Given the description of an element on the screen output the (x, y) to click on. 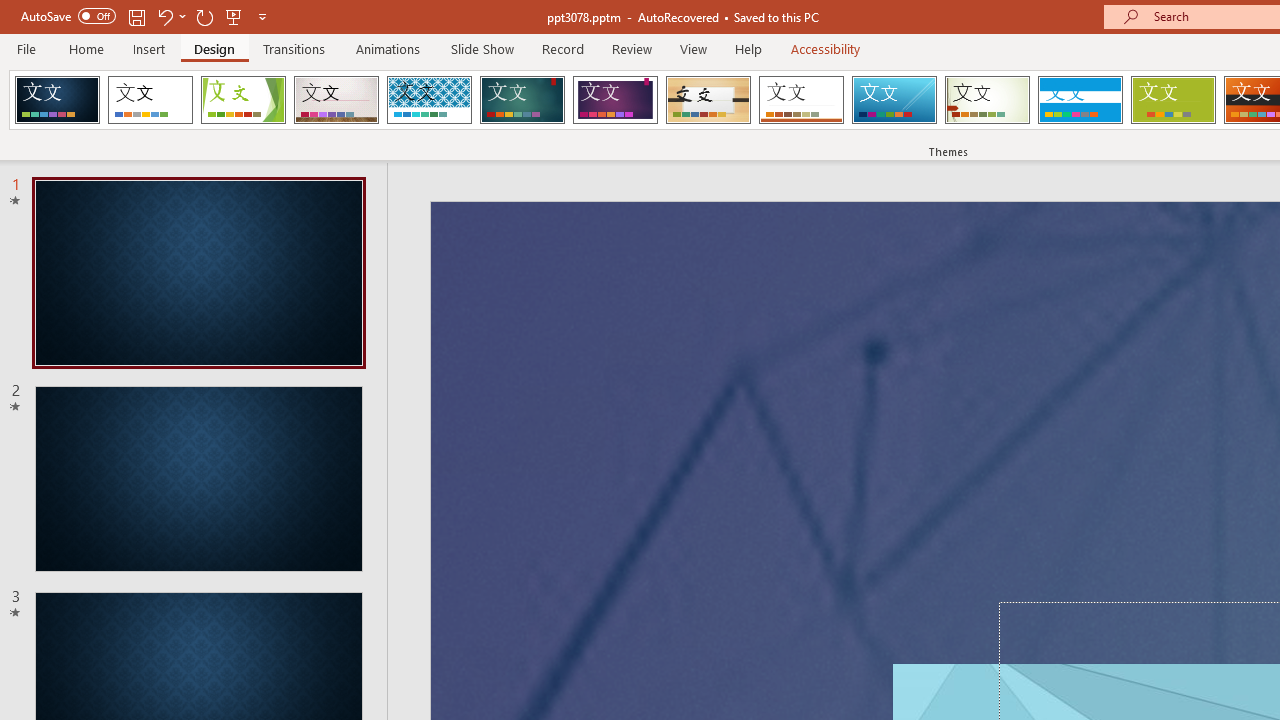
Office Theme (150, 100)
Banded (1080, 100)
